Given the description of an element on the screen output the (x, y) to click on. 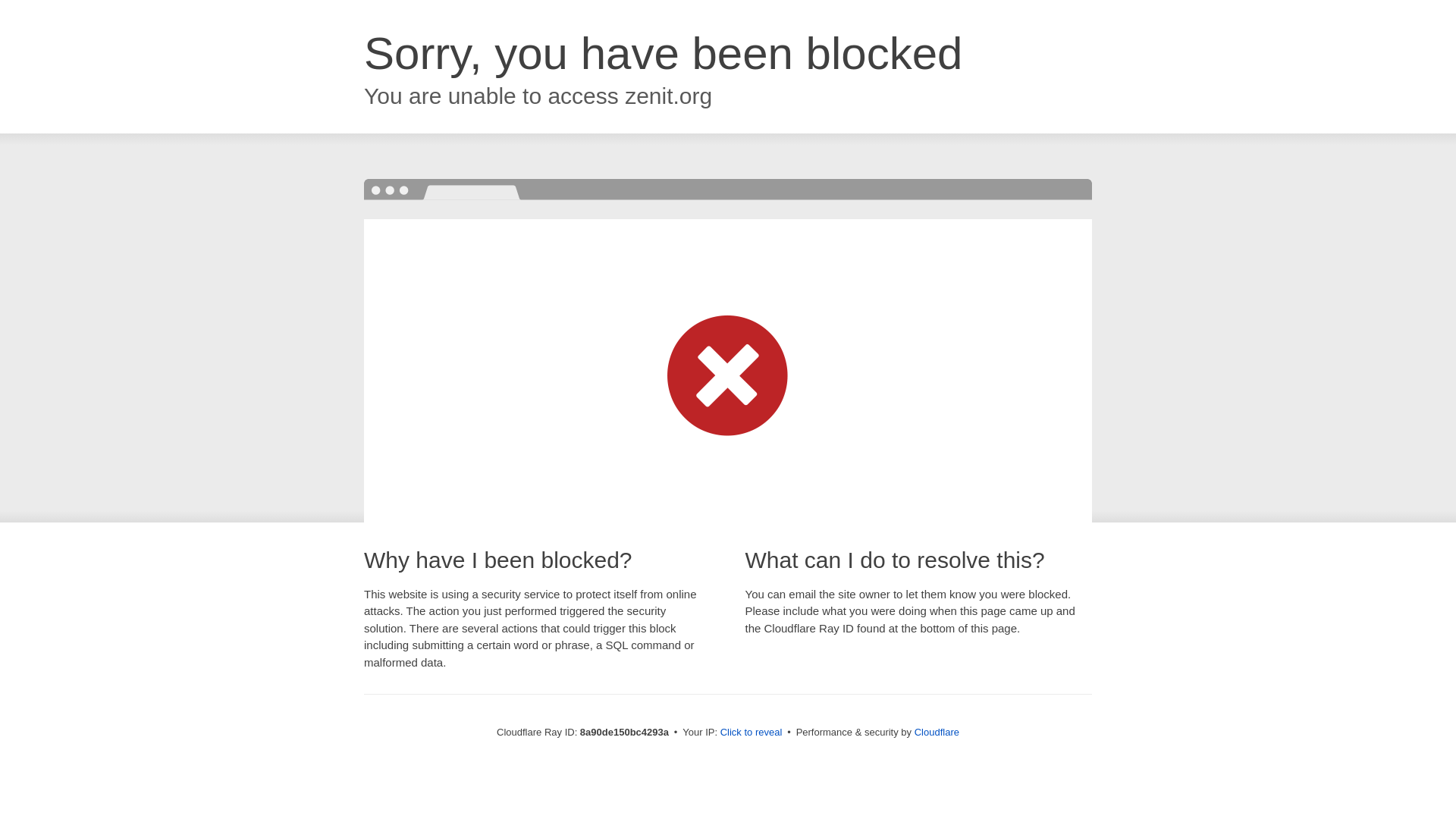
Click to reveal (751, 732)
Cloudflare (936, 731)
